Given the description of an element on the screen output the (x, y) to click on. 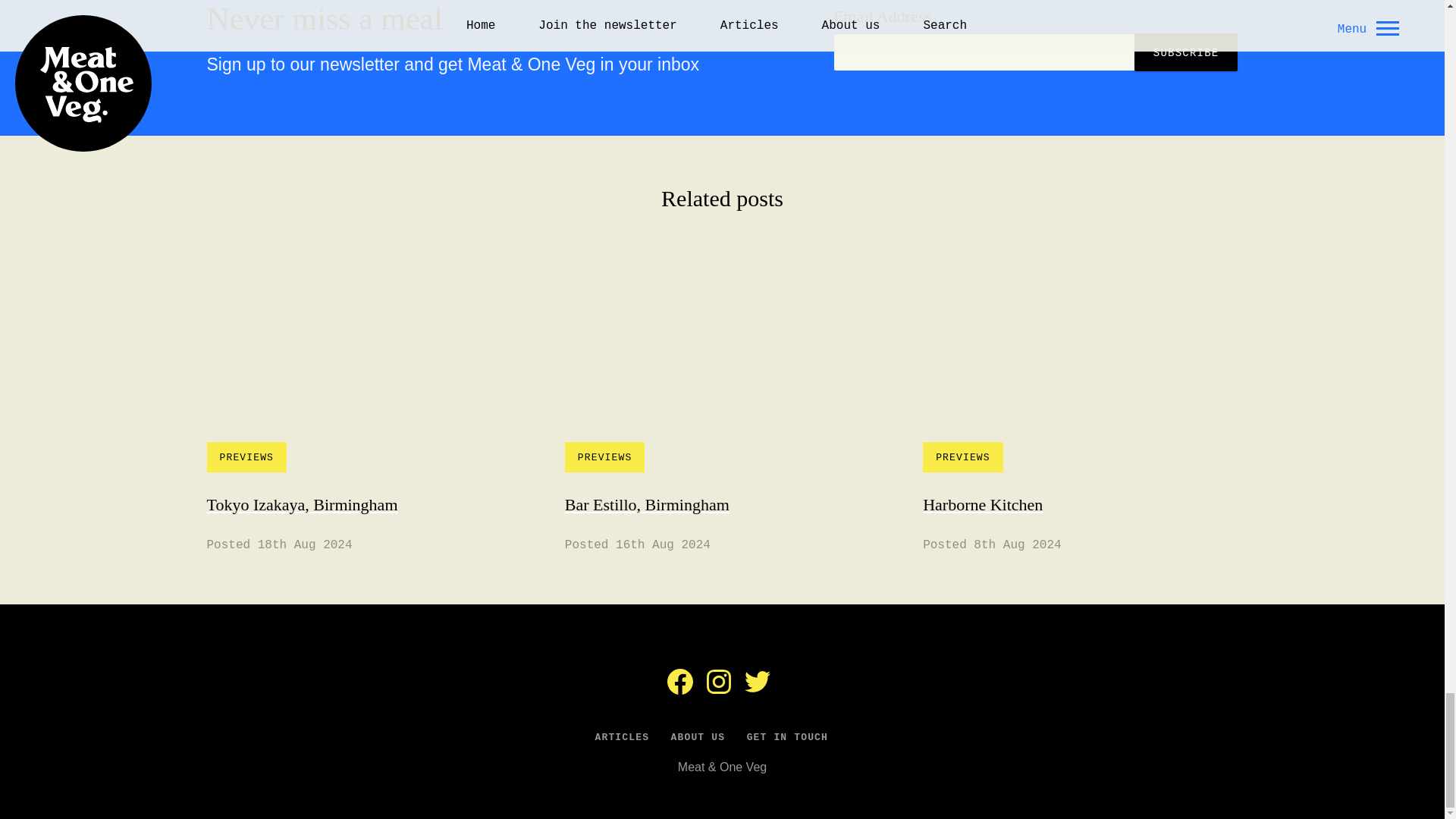
Subscribe (1186, 52)
Subscribe (363, 407)
